Given the description of an element on the screen output the (x, y) to click on. 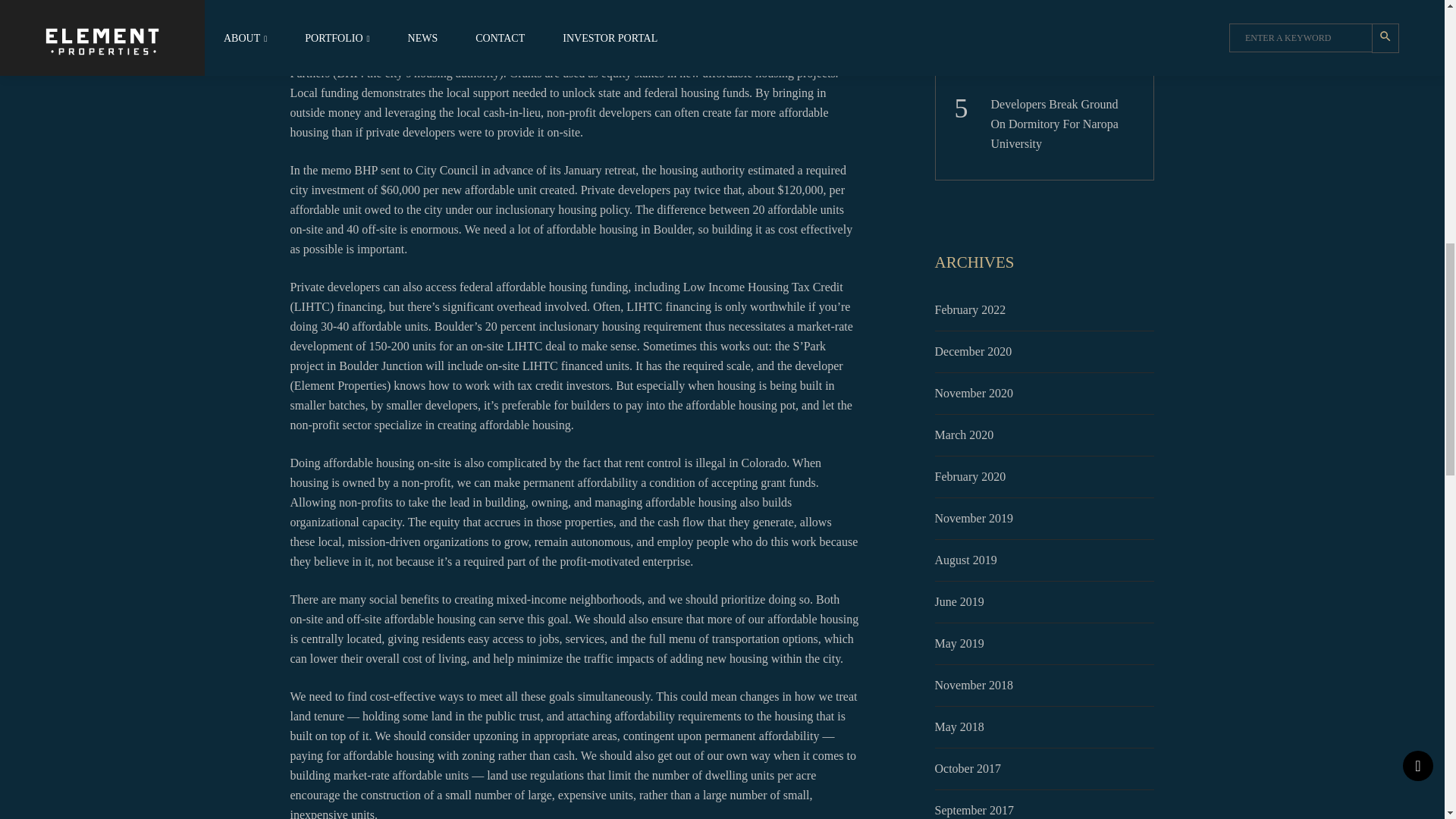
Developers Break Ground On Dormitory For Naropa University (1064, 124)
February 2022 (971, 309)
